Given the description of an element on the screen output the (x, y) to click on. 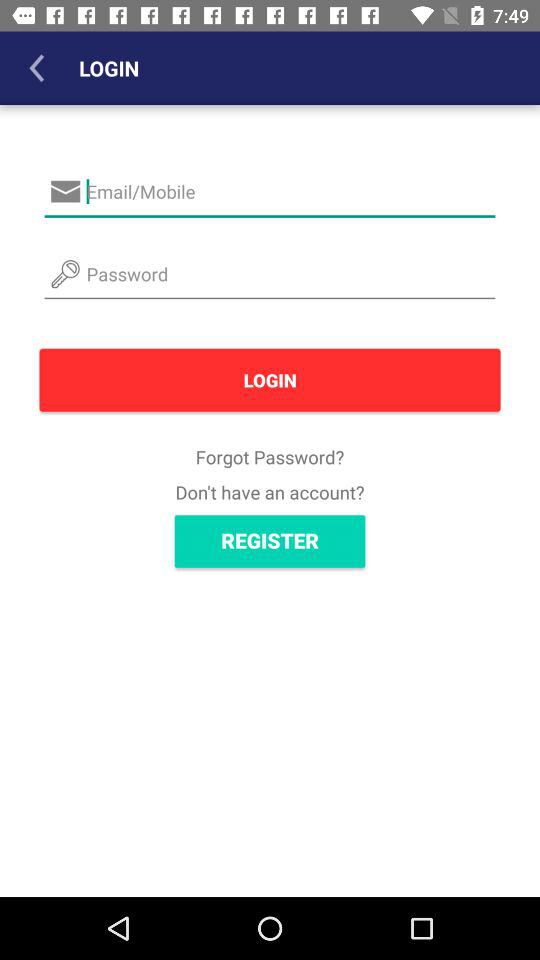
press item above the register item (269, 492)
